Given the description of an element on the screen output the (x, y) to click on. 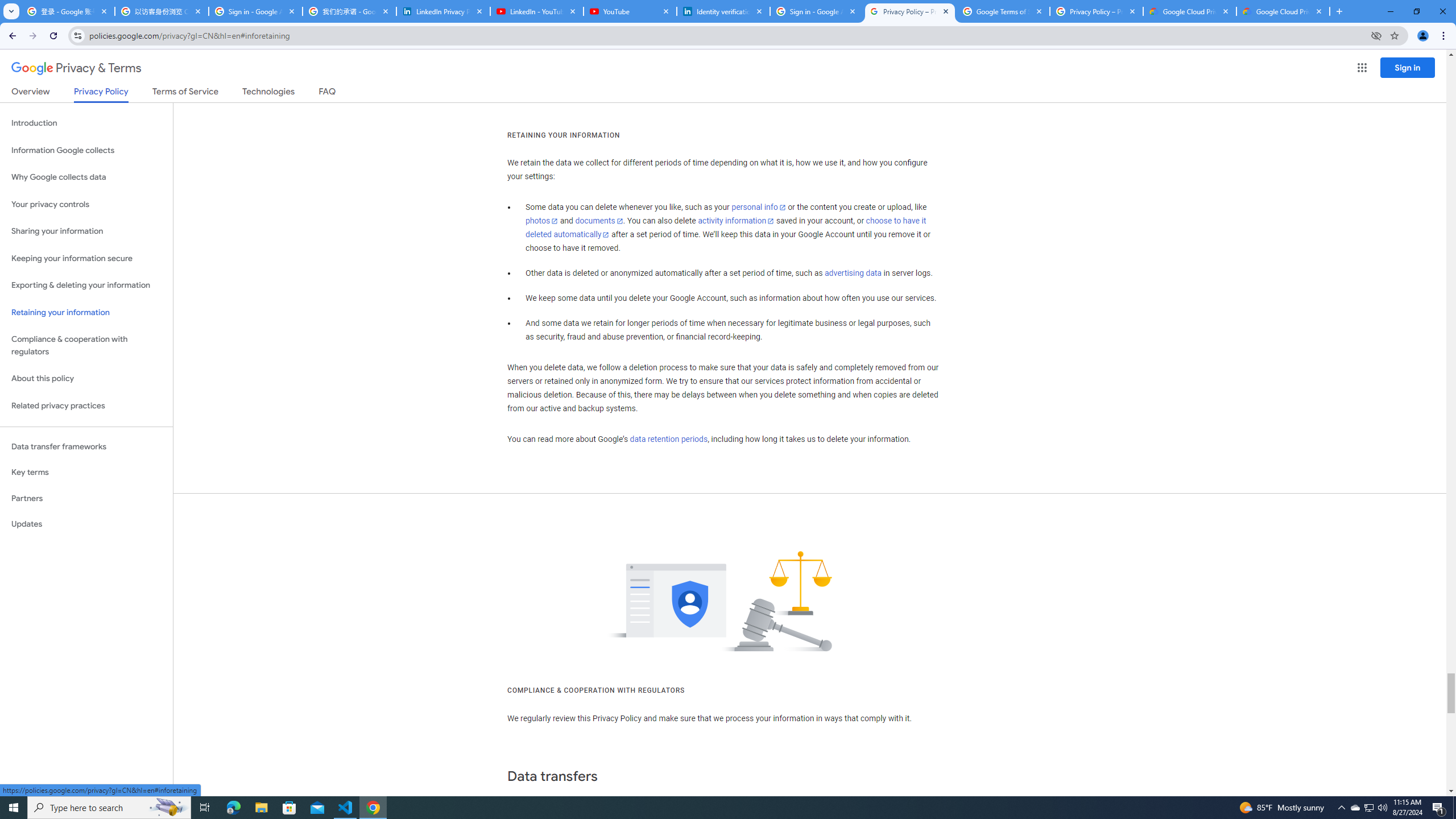
data retention periods (667, 439)
Key terms (86, 472)
LinkedIn - YouTube (536, 11)
Google Cloud Privacy Notice (1189, 11)
Compliance & cooperation with regulators (86, 345)
Why Google collects data (86, 176)
photos (542, 221)
